Given the description of an element on the screen output the (x, y) to click on. 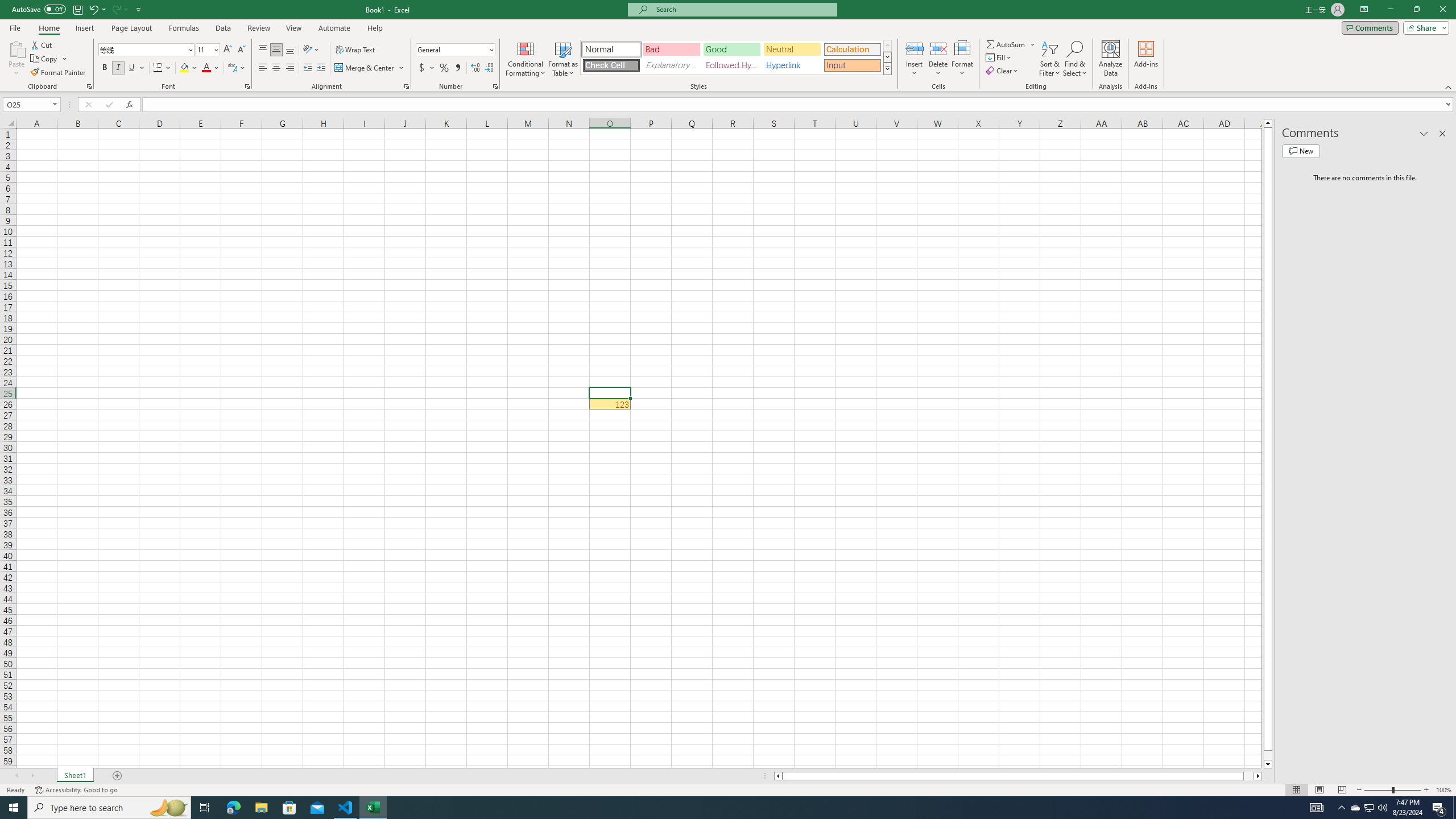
Paste (16, 58)
Sort & Filter (1049, 58)
Font Size (207, 49)
Conditional Formatting (525, 58)
Bottom Border (157, 67)
Paste (16, 48)
